Given the description of an element on the screen output the (x, y) to click on. 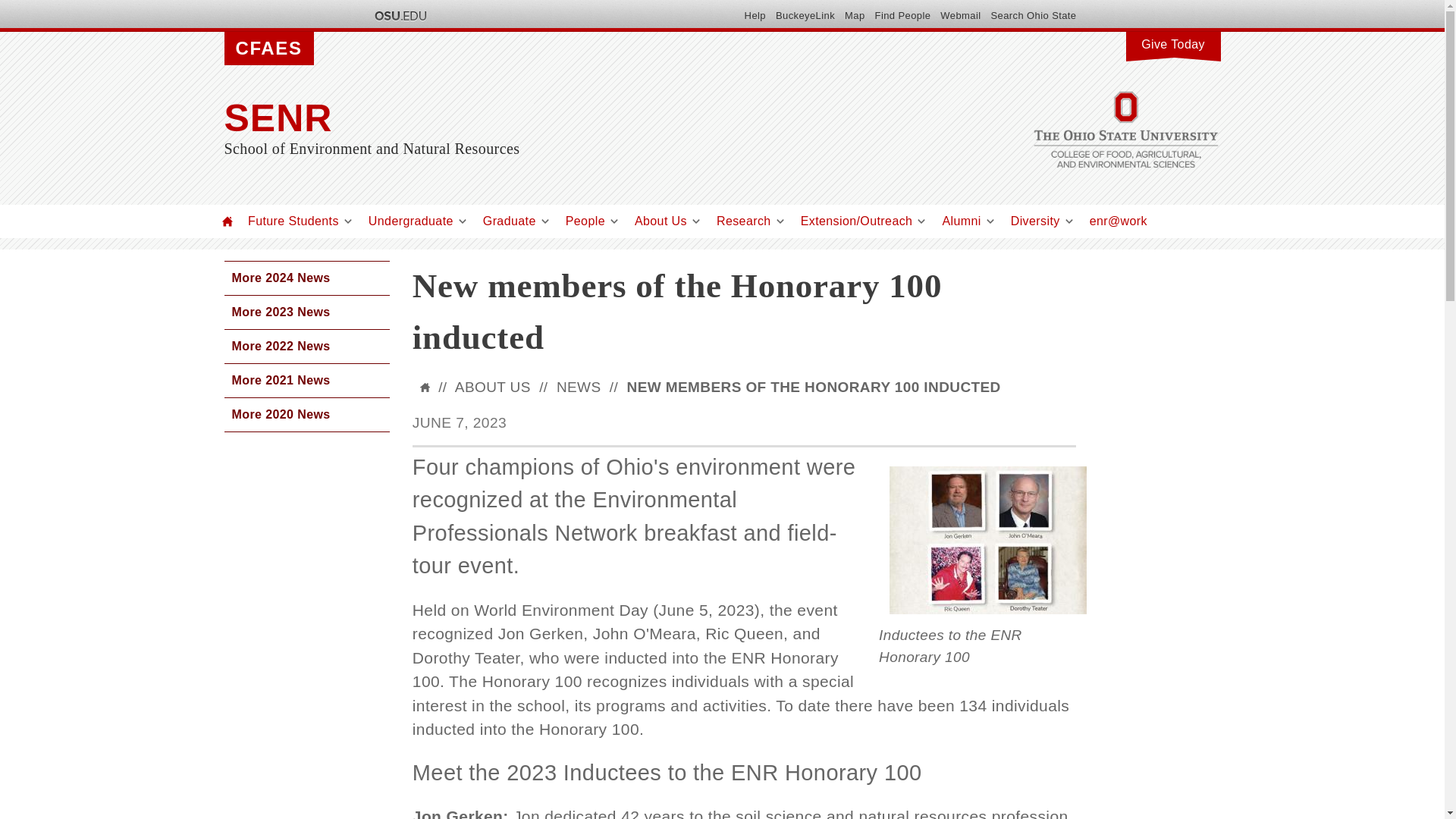
Search Ohio State (1032, 15)
The Ohio State University (399, 15)
Help (754, 15)
BuckeyeLink (805, 15)
SENR (572, 118)
Give Today (1172, 42)
Inductees to the ENR Honorary 100 (987, 540)
CFAES (269, 48)
Map (854, 15)
Undergraduate (410, 221)
Find People (903, 15)
Future Students (293, 221)
Skip to main content (686, 1)
Webmail (959, 15)
Home (572, 118)
